Given the description of an element on the screen output the (x, y) to click on. 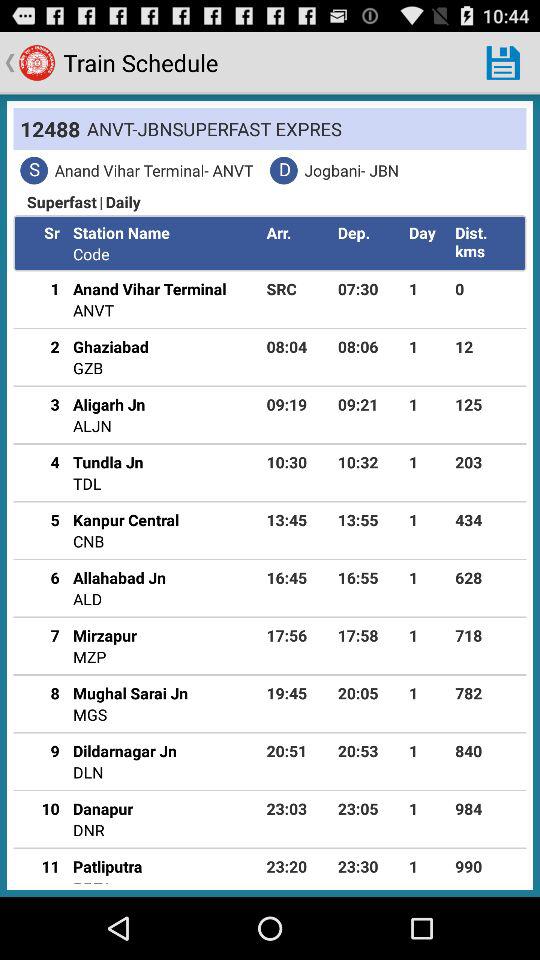
launch the app next to 1 item (487, 404)
